Given the description of an element on the screen output the (x, y) to click on. 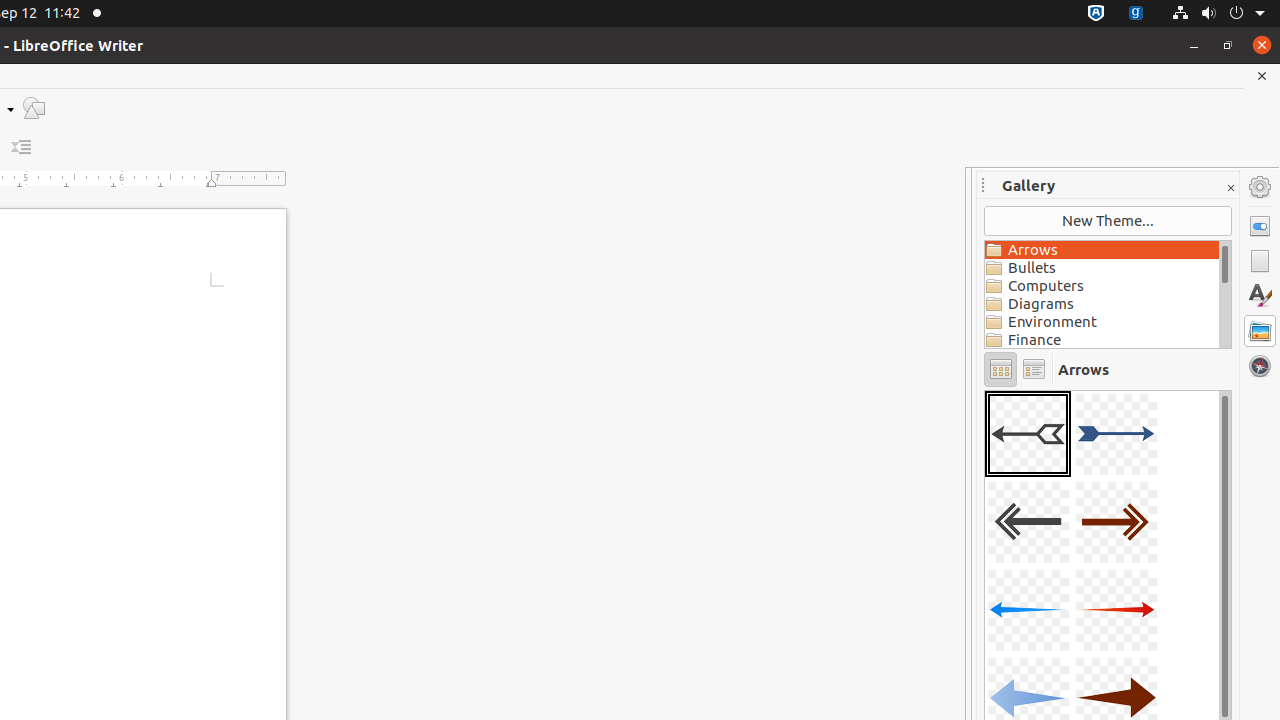
Diagrams Element type: list-item (1102, 304)
Bullets Element type: list-item (1102, 268)
Close Sidebar Deck Element type: push-button (1230, 188)
Decrease Element type: push-button (21, 147)
Arrows Element type: list-item (1102, 249)
